Given the description of an element on the screen output the (x, y) to click on. 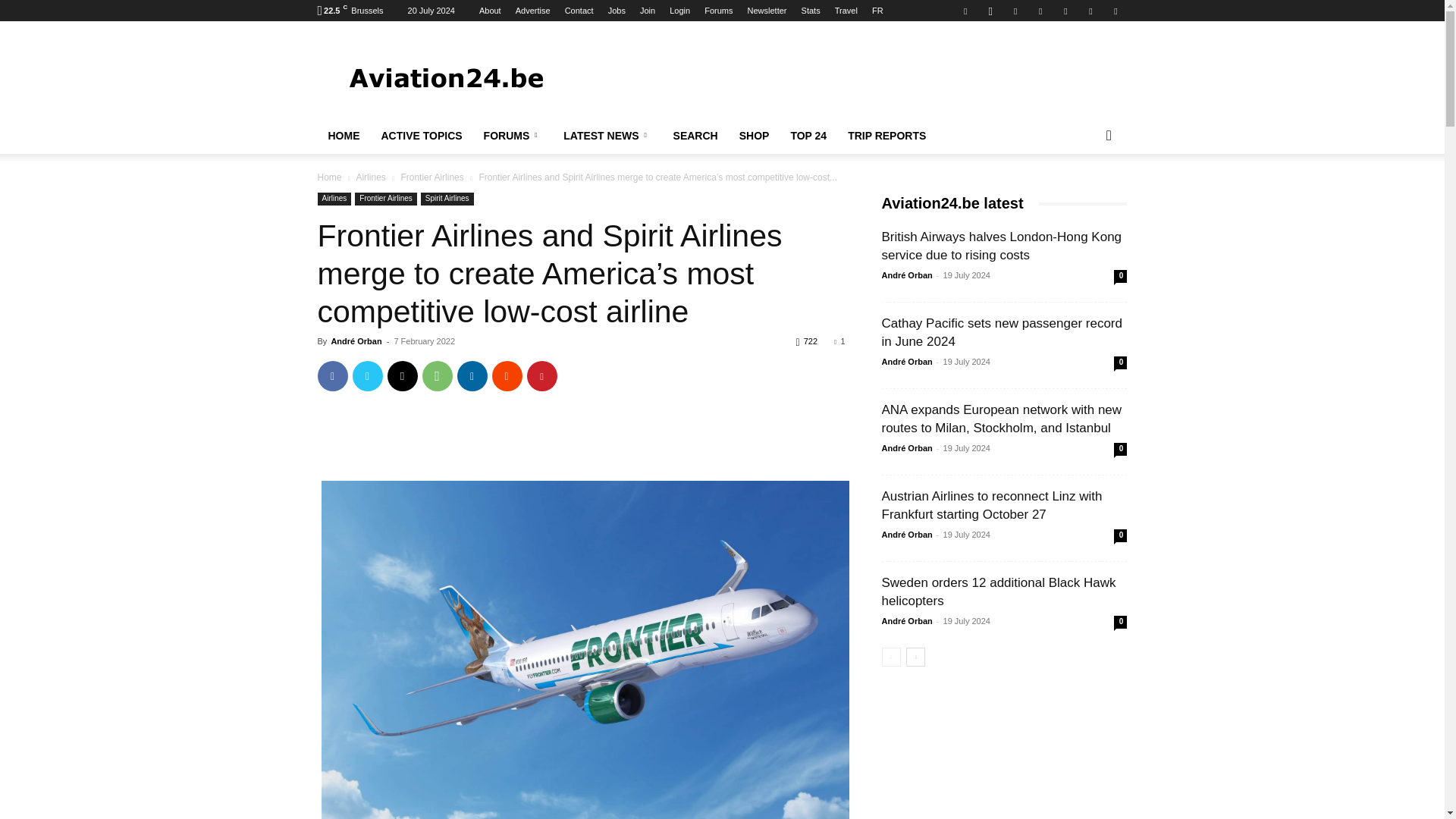
Advertise (532, 10)
Contact (579, 10)
Join (647, 10)
Login (679, 10)
Stats (811, 10)
Forums (718, 10)
About (489, 10)
Jobs (617, 10)
Travel (845, 10)
Newsletter (767, 10)
FR (877, 10)
